Given the description of an element on the screen output the (x, y) to click on. 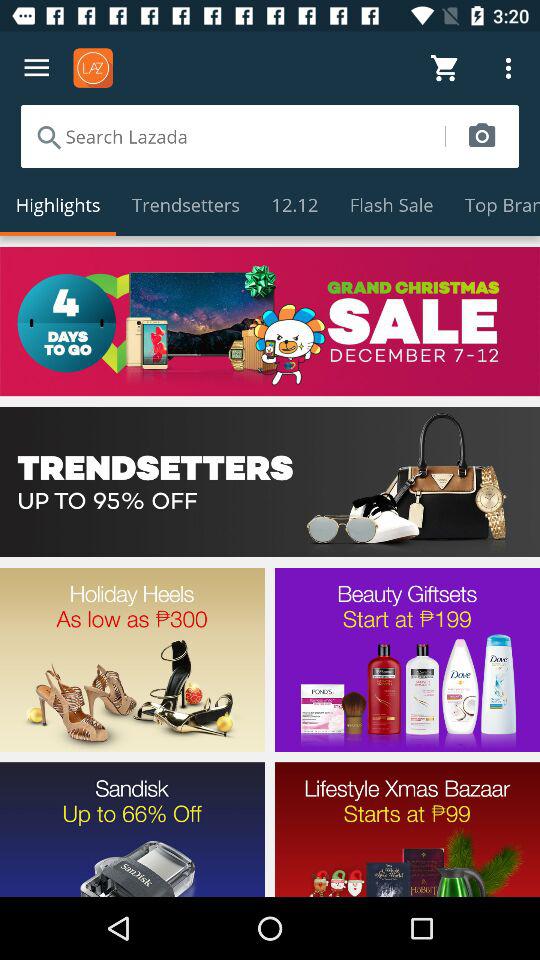
enter for search (232, 136)
